Given the description of an element on the screen output the (x, y) to click on. 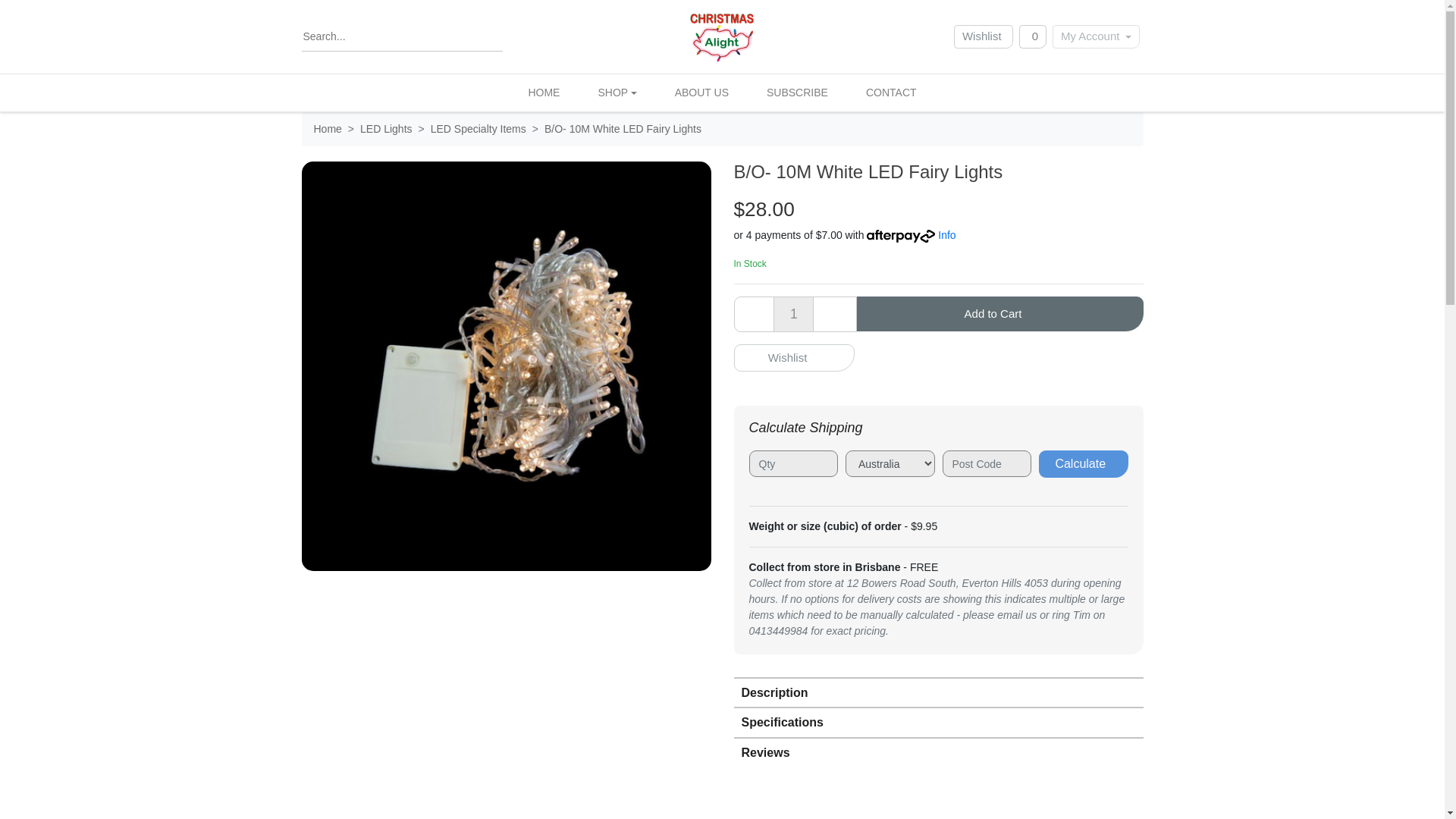
HOME (543, 92)
Wishlist (983, 36)
SHOP (616, 92)
My Account (1096, 36)
0 (1032, 36)
Christmas Alight (722, 36)
Wishlist  (983, 36)
1 (793, 313)
